Given the description of an element on the screen output the (x, y) to click on. 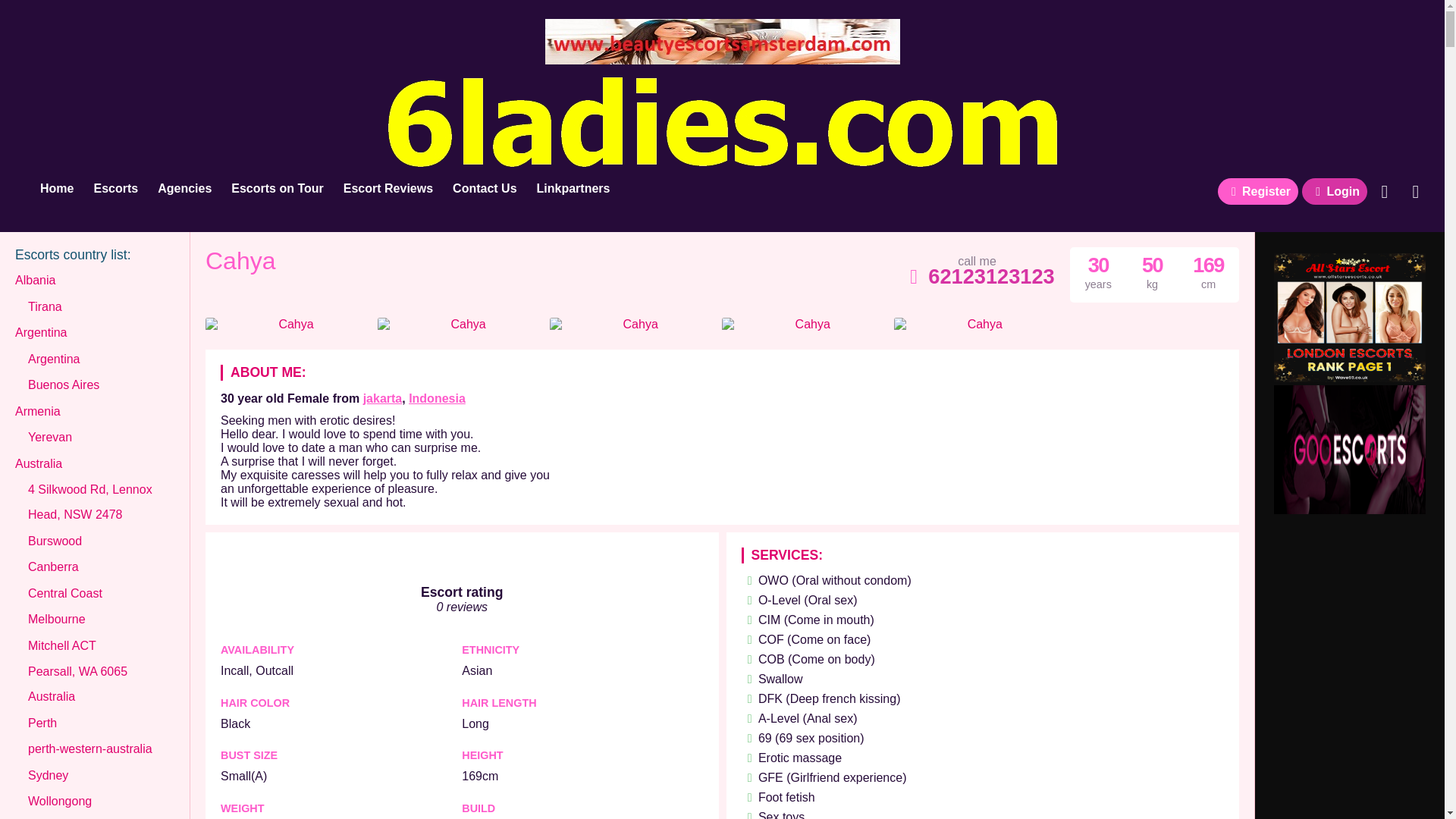
Argentina (40, 332)
Buenos Aires (63, 385)
Linkpartners (573, 188)
Australia (38, 463)
Contact Us (1415, 191)
Argentina (53, 359)
Agencies (184, 188)
Armenia (37, 411)
Escorts on Tour (277, 188)
Contact Us (483, 188)
6Ladies.com (56, 188)
Dubai escorts (1349, 509)
Search (1384, 191)
Indonesia (437, 398)
Tirana (44, 307)
